Given the description of an element on the screen output the (x, y) to click on. 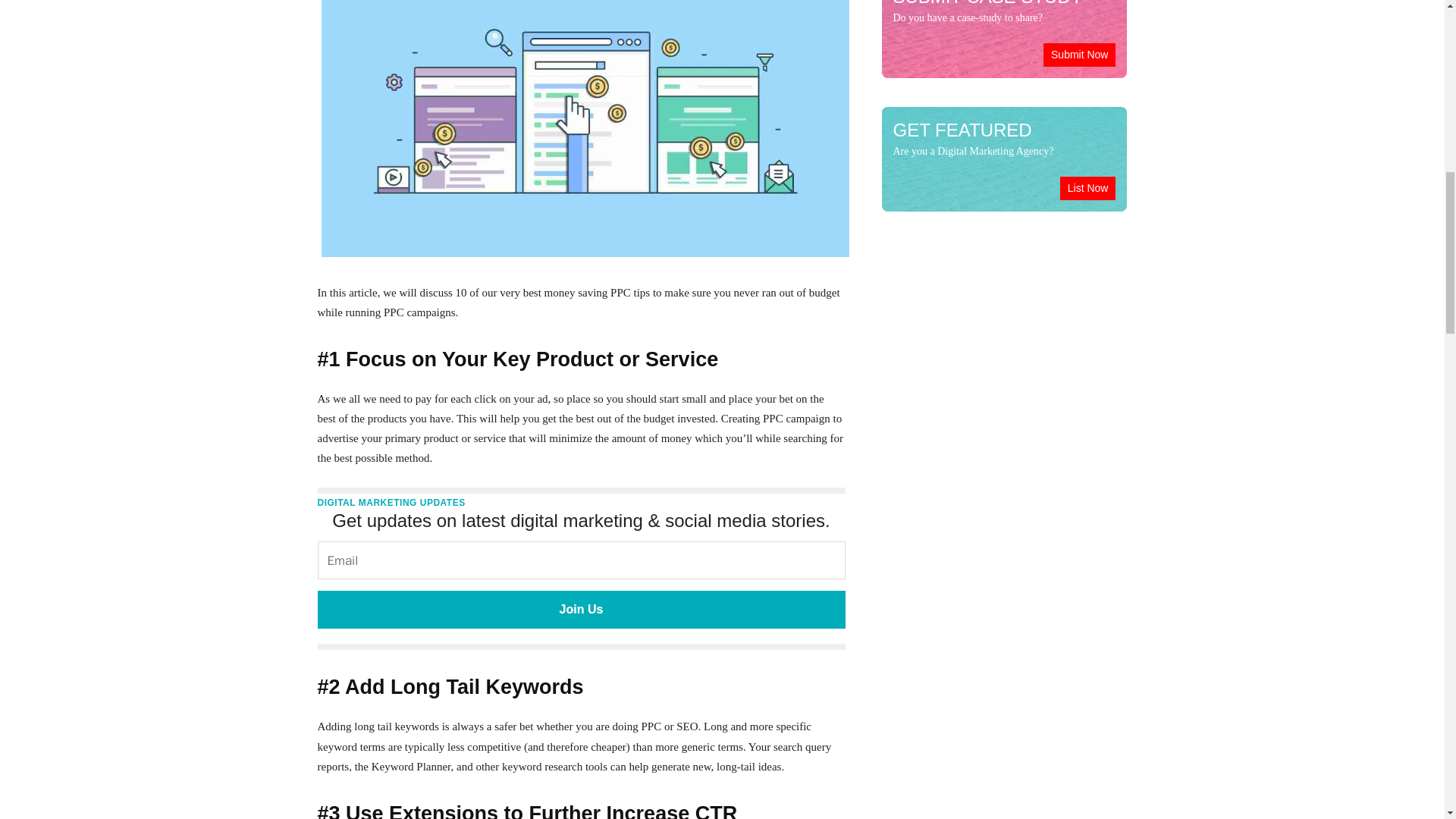
Join Us (580, 609)
